Given the description of an element on the screen output the (x, y) to click on. 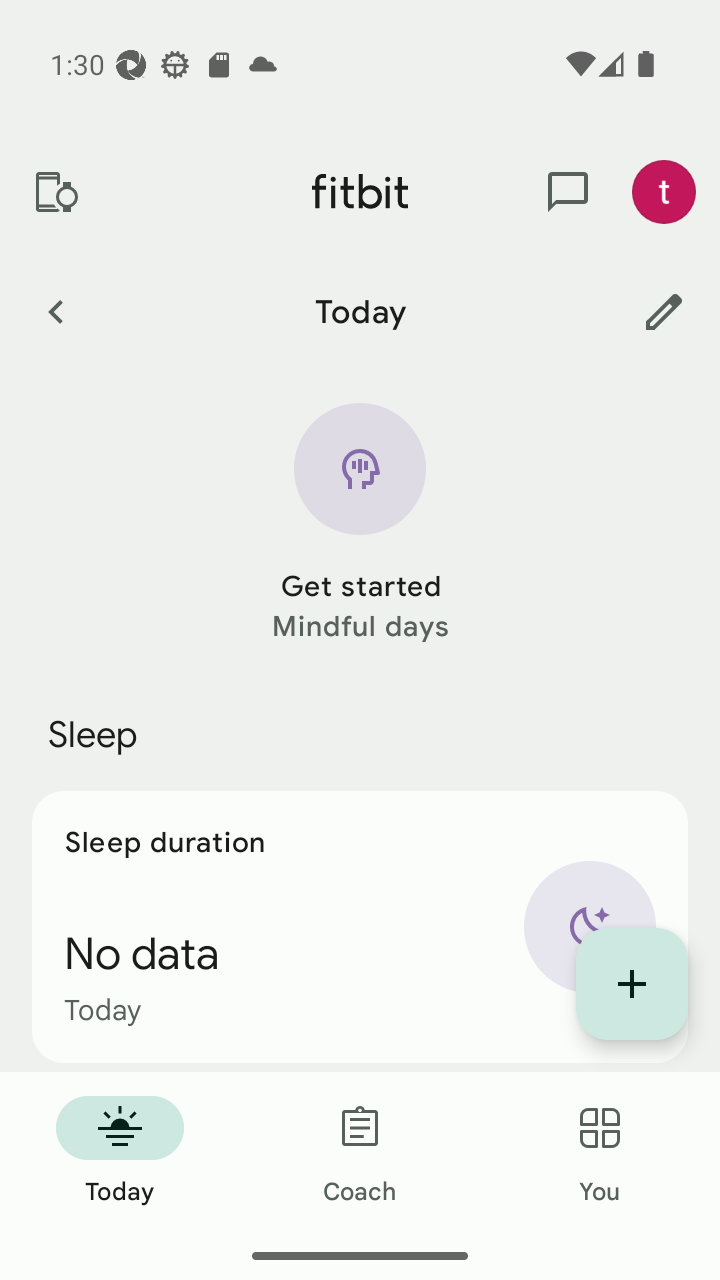
Devices and apps (55, 191)
messages and notifications (567, 191)
Previous Day (55, 311)
Customize (664, 311)
Mindfulness icon Get started Mindful days (360, 524)
Sleep duration No data Today Sleep static arc (359, 926)
Display list of quick log entries (632, 983)
Coach (359, 1151)
You (600, 1151)
